Given the description of an element on the screen output the (x, y) to click on. 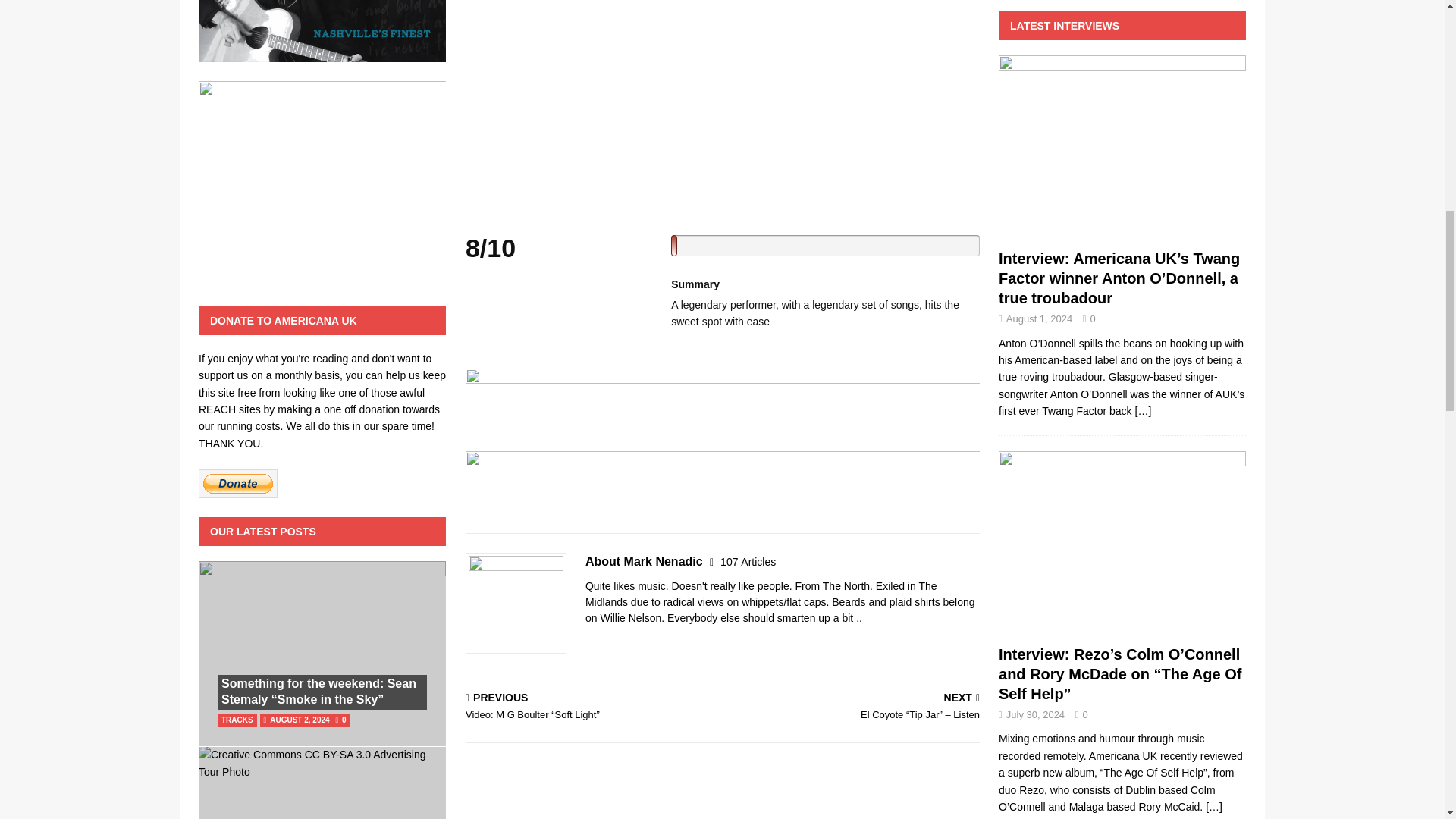
My Way by Willie Nelson (722, 107)
